Given the description of an element on the screen output the (x, y) to click on. 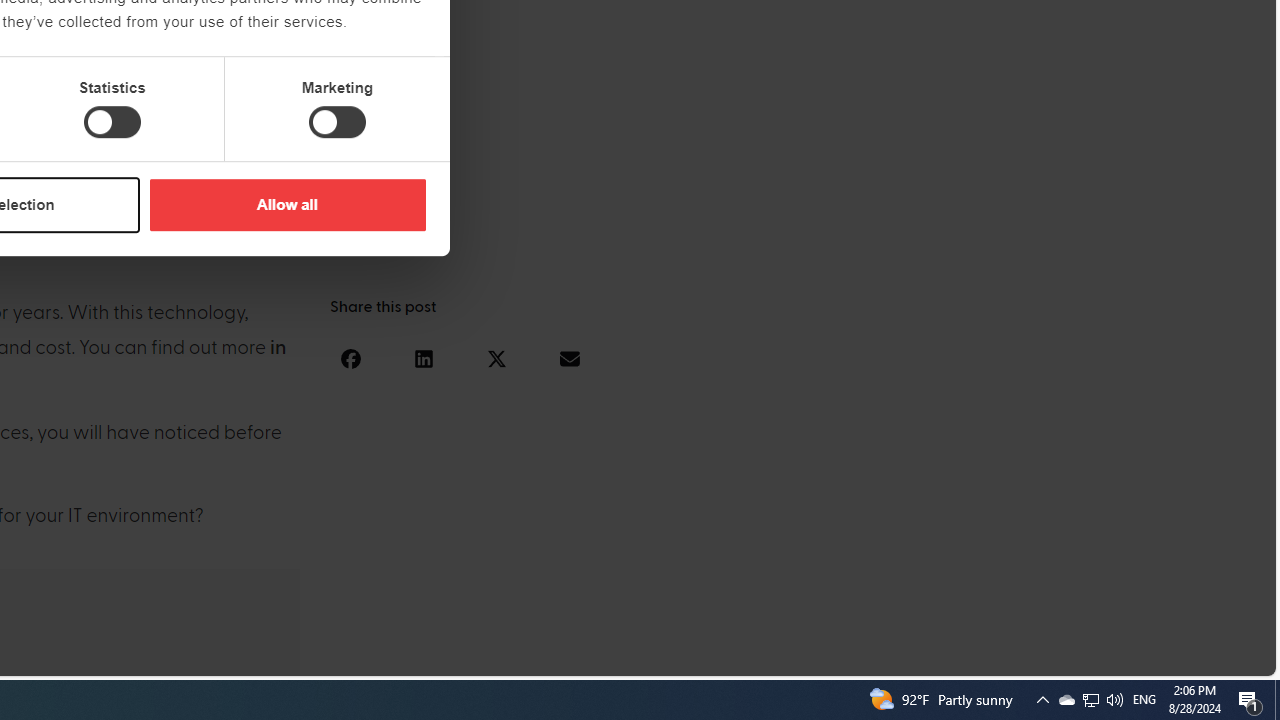
Language switcher : Slovak (1085, 657)
Language switcher : Croatian (1045, 657)
Language switcher : Finnish (1165, 657)
Language switcher : Danish (1025, 657)
Language switcher : Slovenian (1066, 657)
Language switcher : Polish (1005, 657)
Share on x-twitter (496, 358)
Language switcher : German (885, 657)
Language switcher : Portuguese (1185, 657)
Share on email (569, 358)
